Given the description of an element on the screen output the (x, y) to click on. 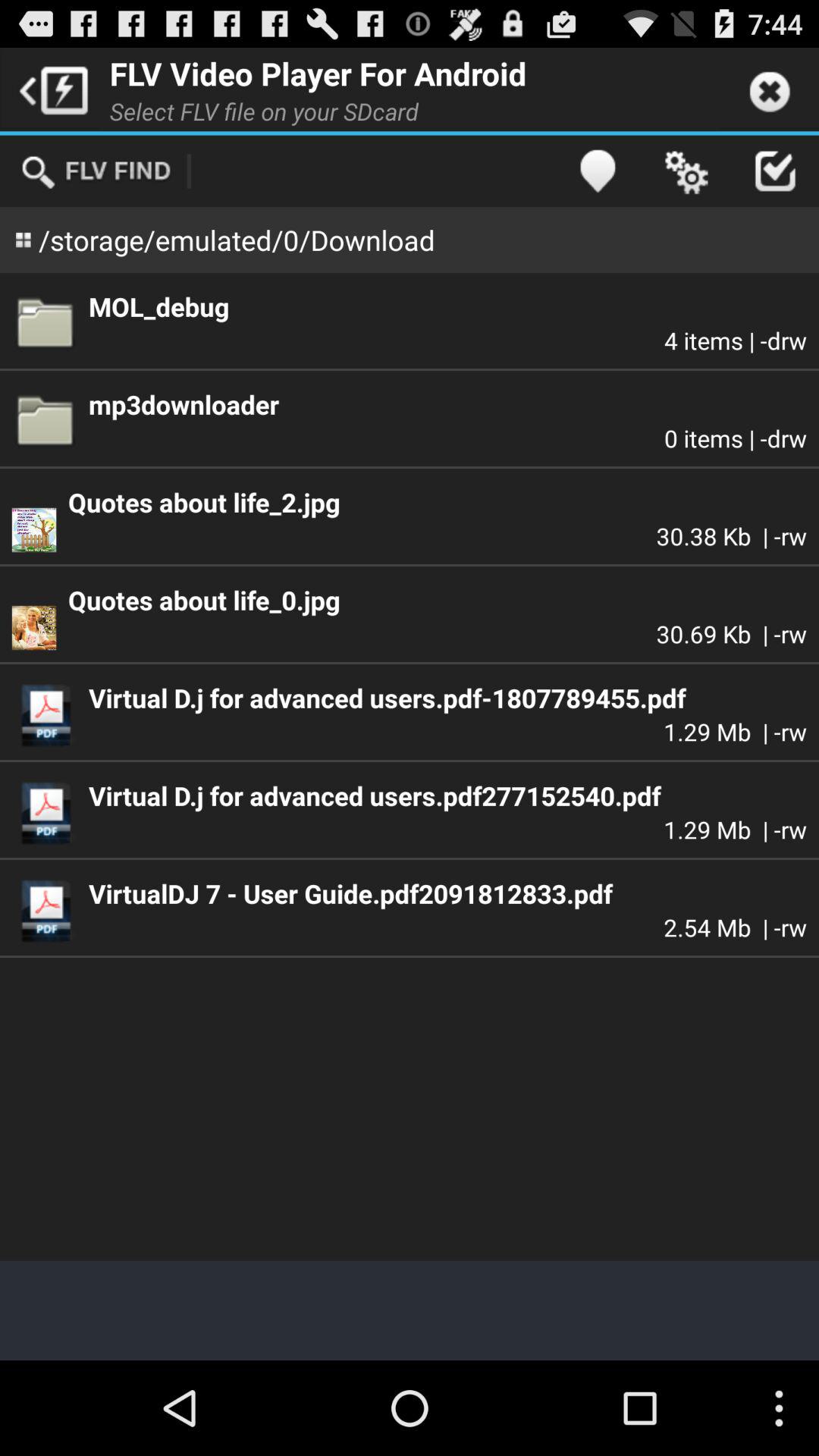
open the item above mol_debug (596, 171)
